Given the description of an element on the screen output the (x, y) to click on. 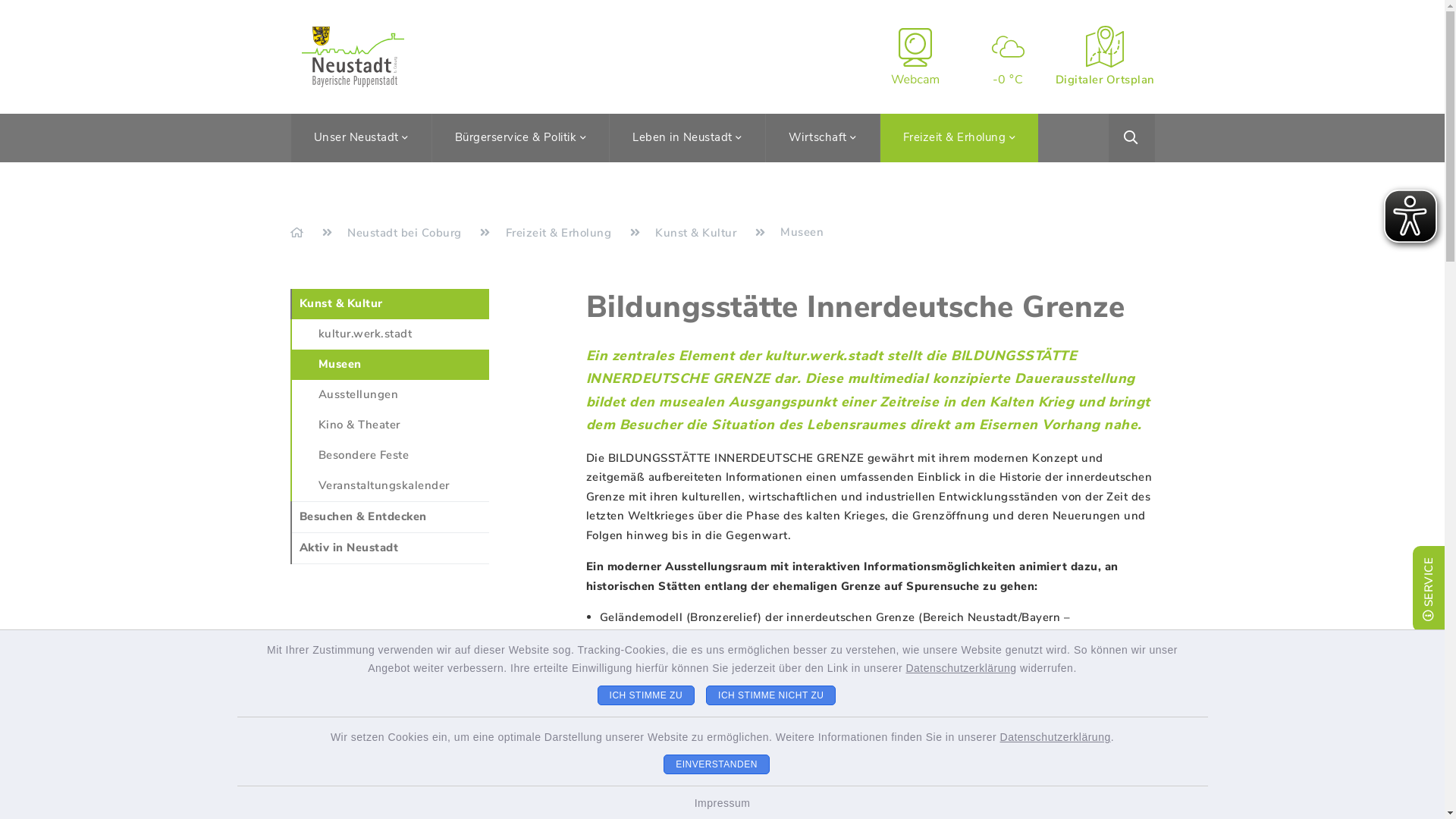
Neustadt bei Coburg Element type: text (405, 232)
Kunst & Kultur Element type: text (697, 232)
Impressum Element type: text (722, 803)
Kunst & Kultur Element type: text (340, 302)
kultur.werk.stadt Element type: text (365, 333)
Leben in Neustadt Element type: text (687, 136)
Digitaler Ortsplan Element type: text (1104, 56)
Kino & Theater Element type: text (359, 424)
Unser Neustadt Element type: text (361, 136)
Aktiv in Neustadt Element type: text (348, 547)
Besondere Feste Element type: text (363, 454)
Freizeit & Erholung Element type: text (559, 232)
Freizeit & Erholung Element type: text (958, 136)
Besuchen & Entdecken Element type: text (362, 516)
Veranstaltungskalender Element type: text (383, 484)
Ausstellungen Element type: text (358, 393)
Wirtschaft Element type: text (822, 136)
Museen Element type: text (339, 363)
